Given the description of an element on the screen output the (x, y) to click on. 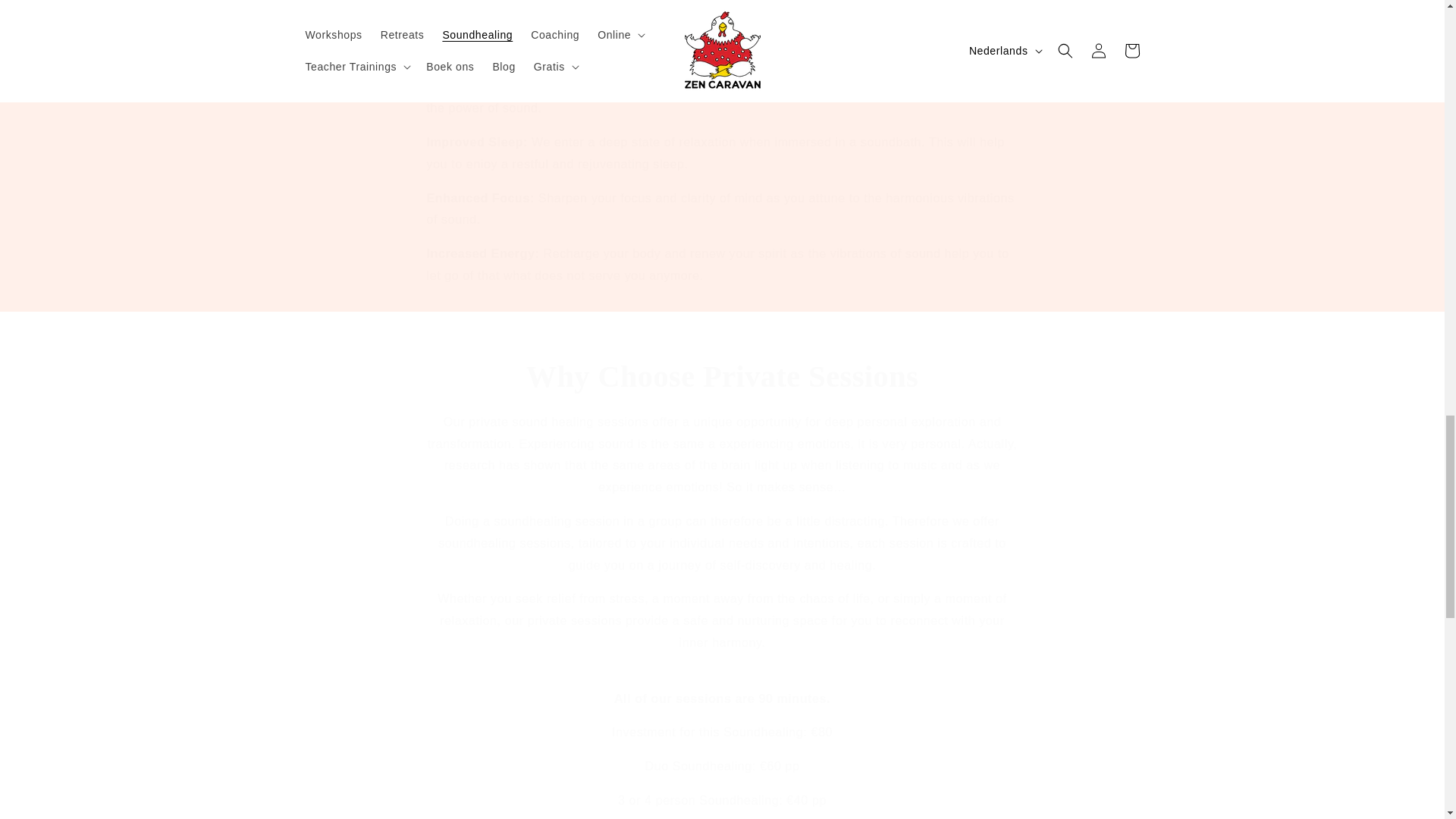
Why Choose Private Sessions (721, 376)
